Given the description of an element on the screen output the (x, y) to click on. 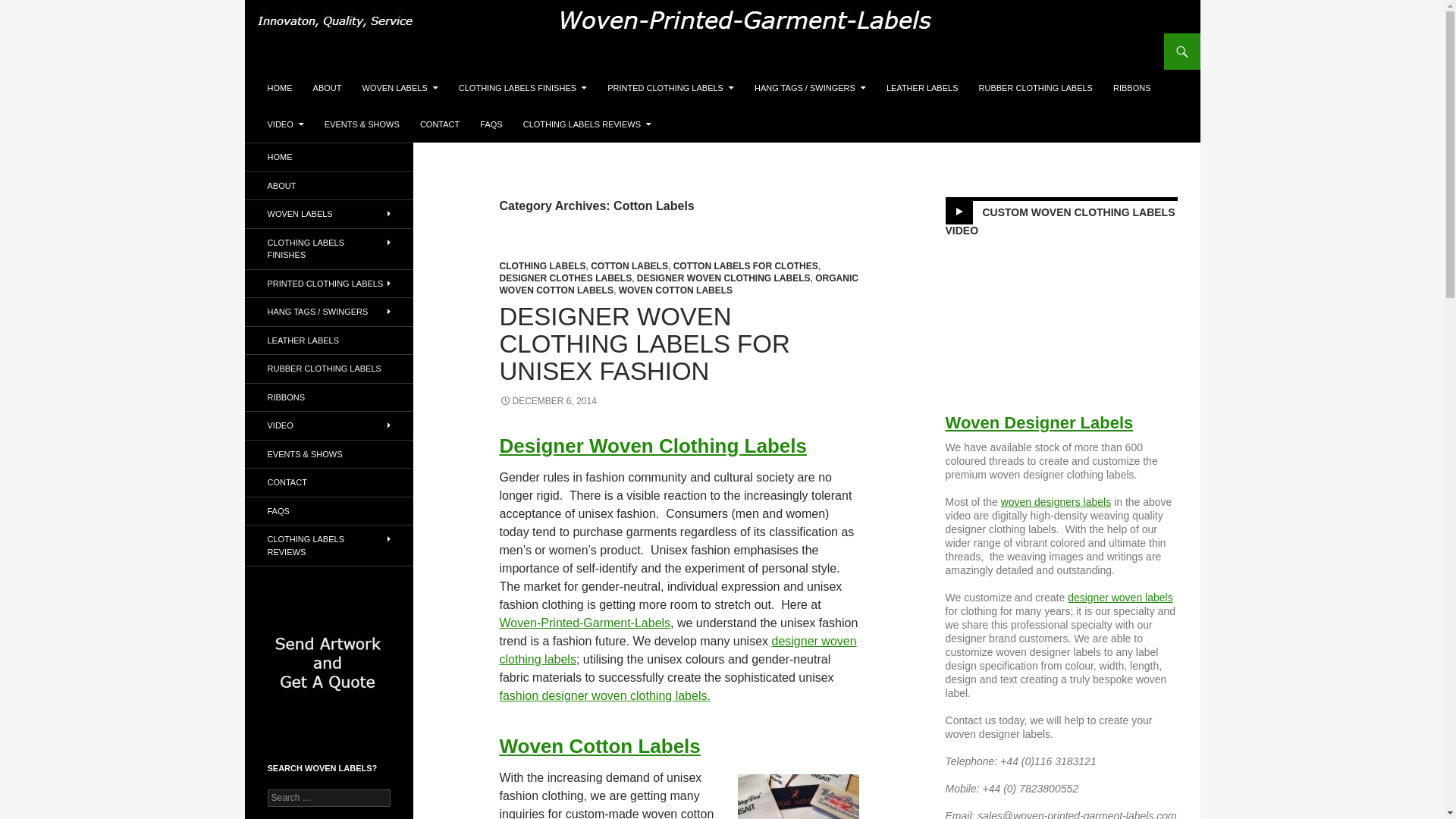
Woven Cotton Labels (599, 745)
Fashion Designer Woven Clothing Labels (604, 695)
CLOTHING LABELS FINISHES (522, 87)
Woven Designer Labels (1039, 422)
RUBBER CLOTHING LABELS (1035, 87)
Woven Designer Labels (1056, 501)
ABOUT (327, 87)
